Given the description of an element on the screen output the (x, y) to click on. 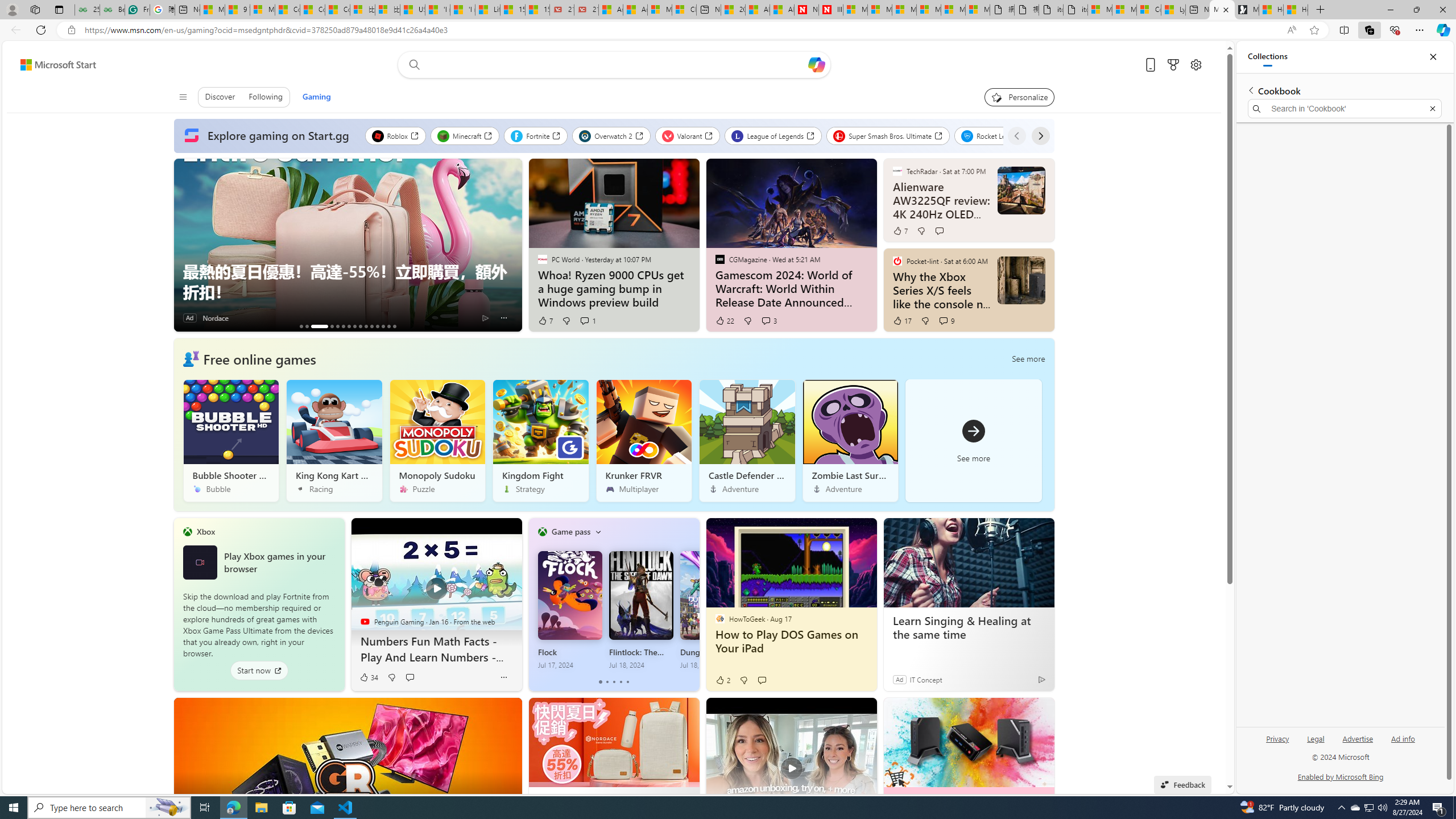
Microsoft Start Gaming (1246, 9)
To get missing image descriptions, open the context menu. (190, 358)
How to Play DOS Games on Your iPad (790, 641)
HowToGeek (719, 618)
Previous slide (181, 245)
AutomationID: tab_nativead-infopane-14 (388, 326)
Castle Defender Saga (746, 440)
Advertise (1358, 742)
Open Copilot (815, 64)
KingdomScape - Gameplay (382, 326)
Start now (259, 670)
Alienware AW3225QF review: 4K 240Hz OLED gaming glory (941, 200)
Best SSL Certificates Provider in India - GeeksforGeeks (111, 9)
